Given the description of an element on the screen output the (x, y) to click on. 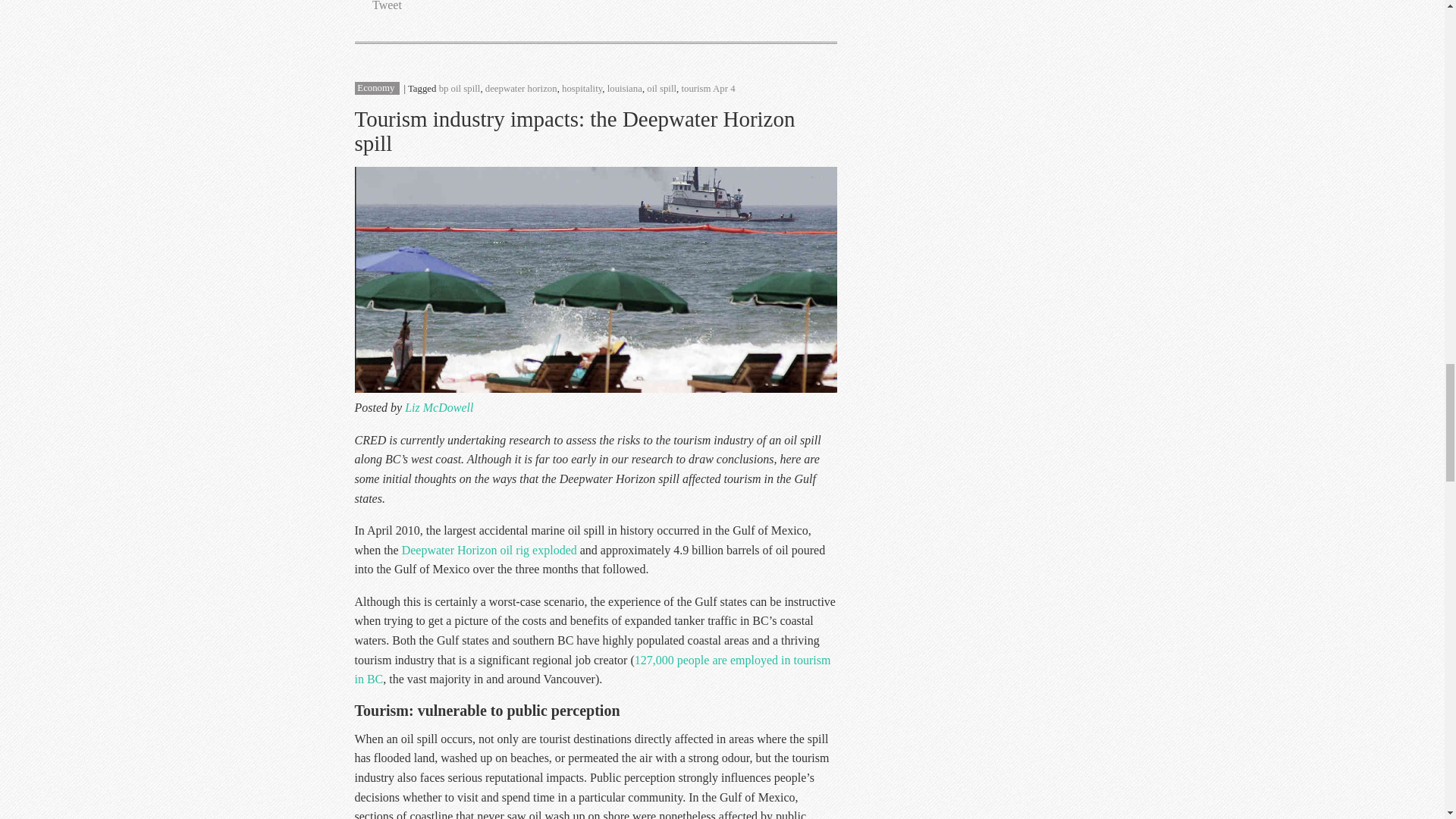
7:57 pm (724, 88)
View all posts in Economy (375, 88)
